Given the description of an element on the screen output the (x, y) to click on. 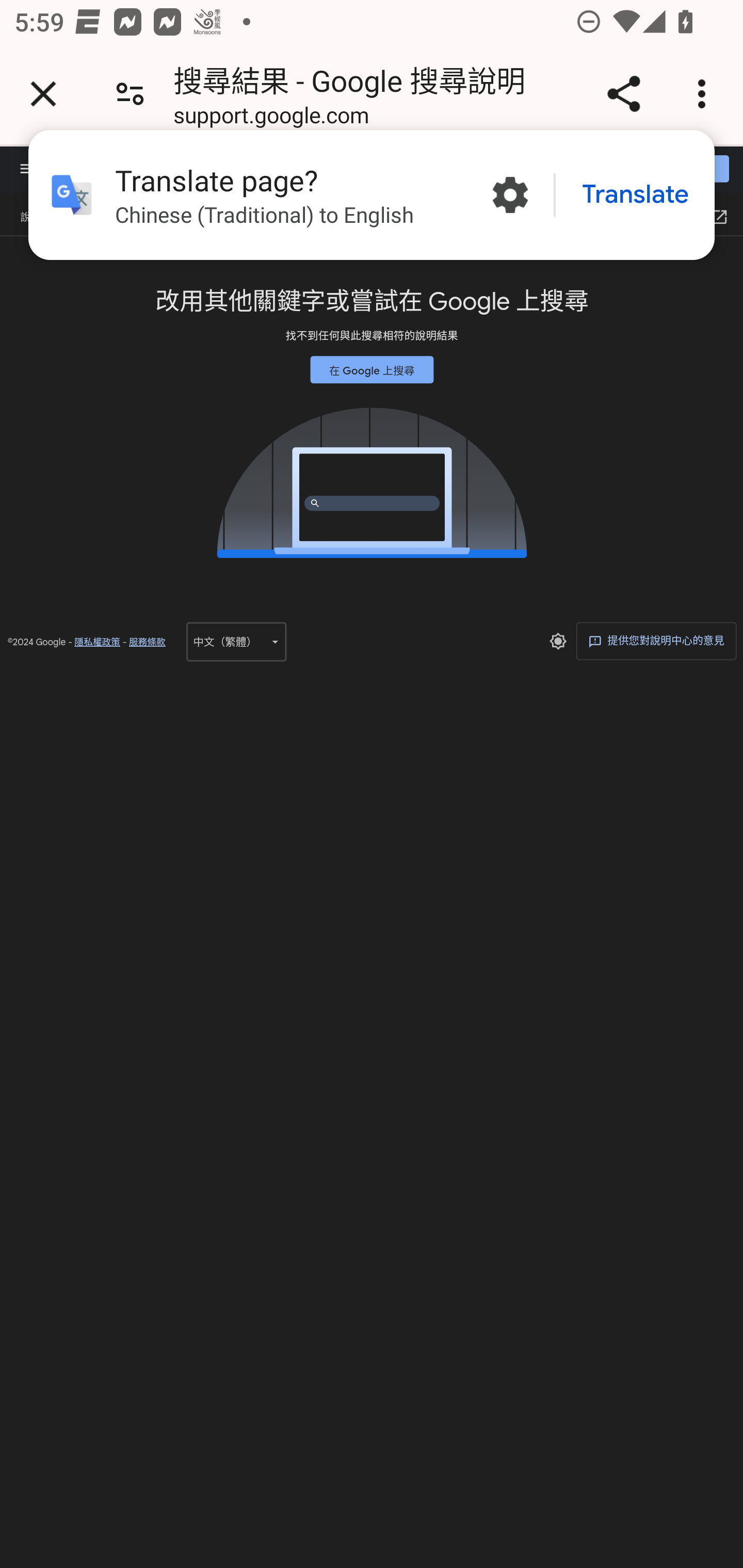
Close tab (43, 93)
Share (623, 93)
Customize and control Google Chrome (705, 93)
Connection is secure (129, 93)
support.google.com (271, 117)
Translate (634, 195)
More options in the Translate page? (509, 195)
在 Google 上搜尋 (371, 368)
選取語言 (中文（繁體）‎) (235, 640)
 提供您對說明中心的意見 (656, 640)
停用深色模式 (557, 641)
隱私權政策 (97, 641)
服務條款 (146, 641)
